Given the description of an element on the screen output the (x, y) to click on. 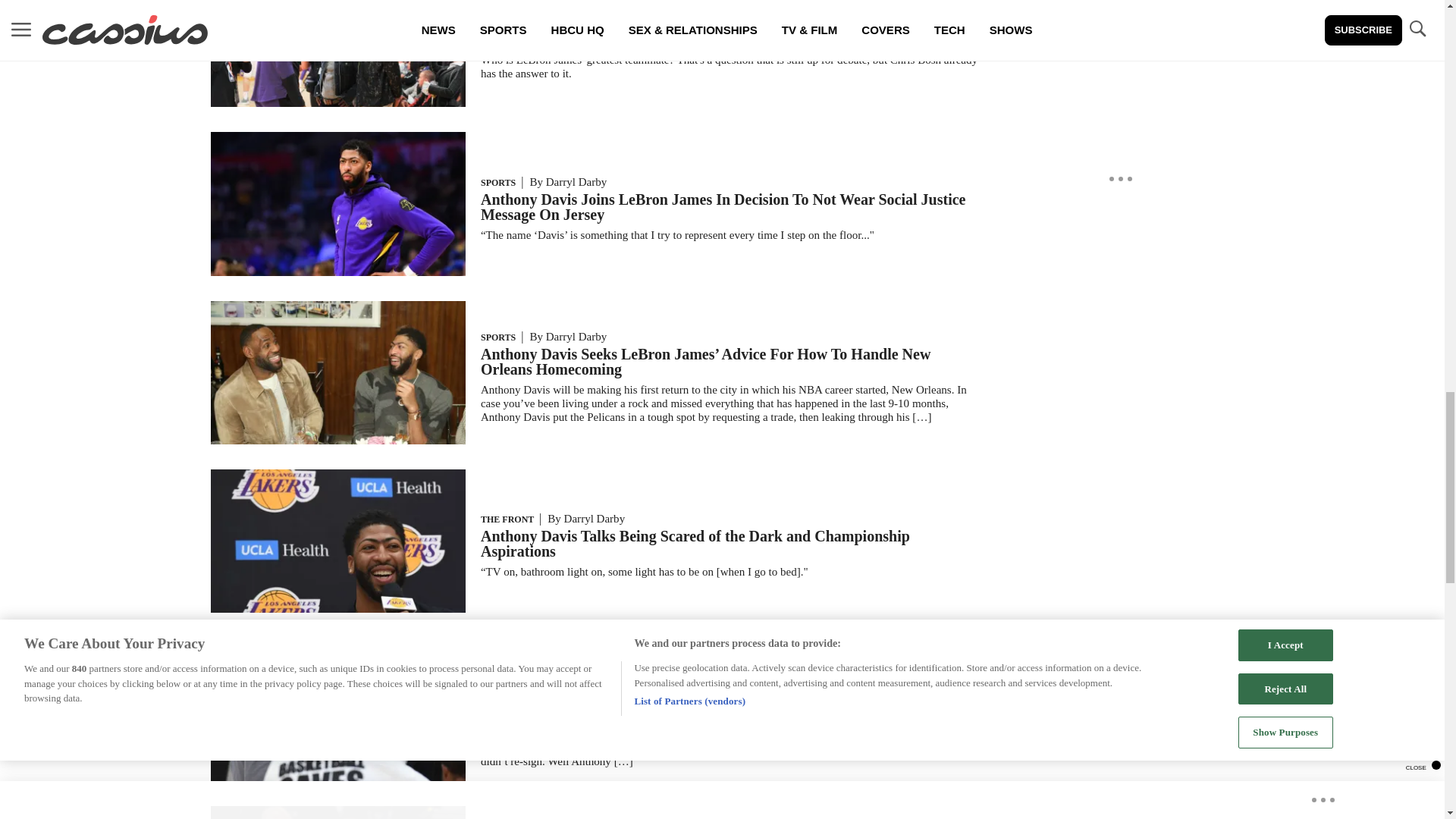
SPORTS (497, 7)
